Given the description of an element on the screen output the (x, y) to click on. 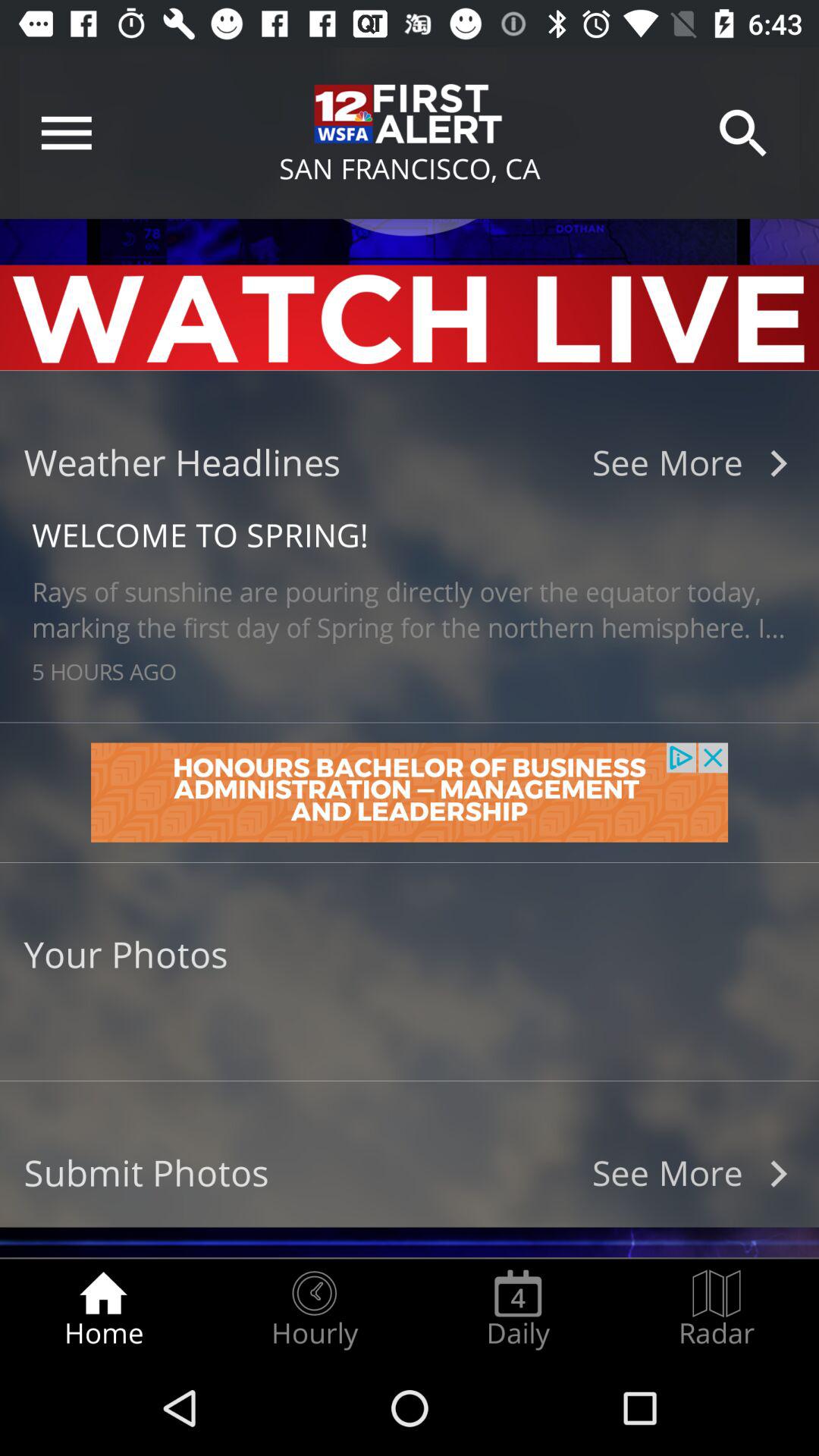
turn on the item next to the home item (314, 1309)
